Given the description of an element on the screen output the (x, y) to click on. 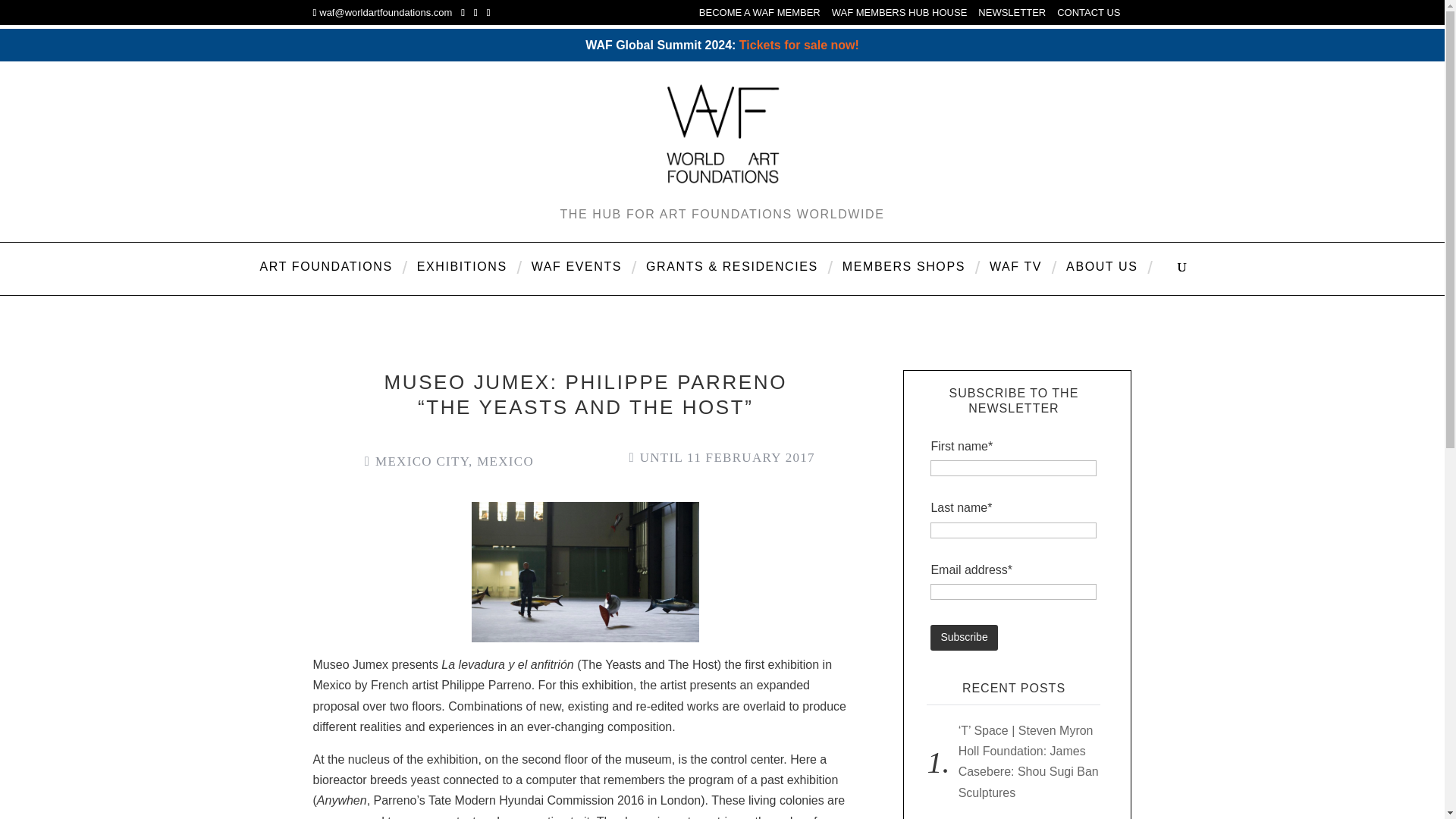
Subscribe (963, 637)
CONTACT US (1088, 16)
EXHIBITIONS (462, 277)
WAF MEMBERS HUB HOUSE (899, 16)
Tickets for sale now! (799, 43)
ABOUT US (1101, 277)
ART FOUNDATIONS (326, 277)
NEWSLETTER (1011, 16)
MEMBERS SHOPS (903, 277)
WAF EVENTS (576, 277)
BECOME A WAF MEMBER (759, 16)
Subscribe (963, 637)
WAF TV (1015, 277)
